Given the description of an element on the screen output the (x, y) to click on. 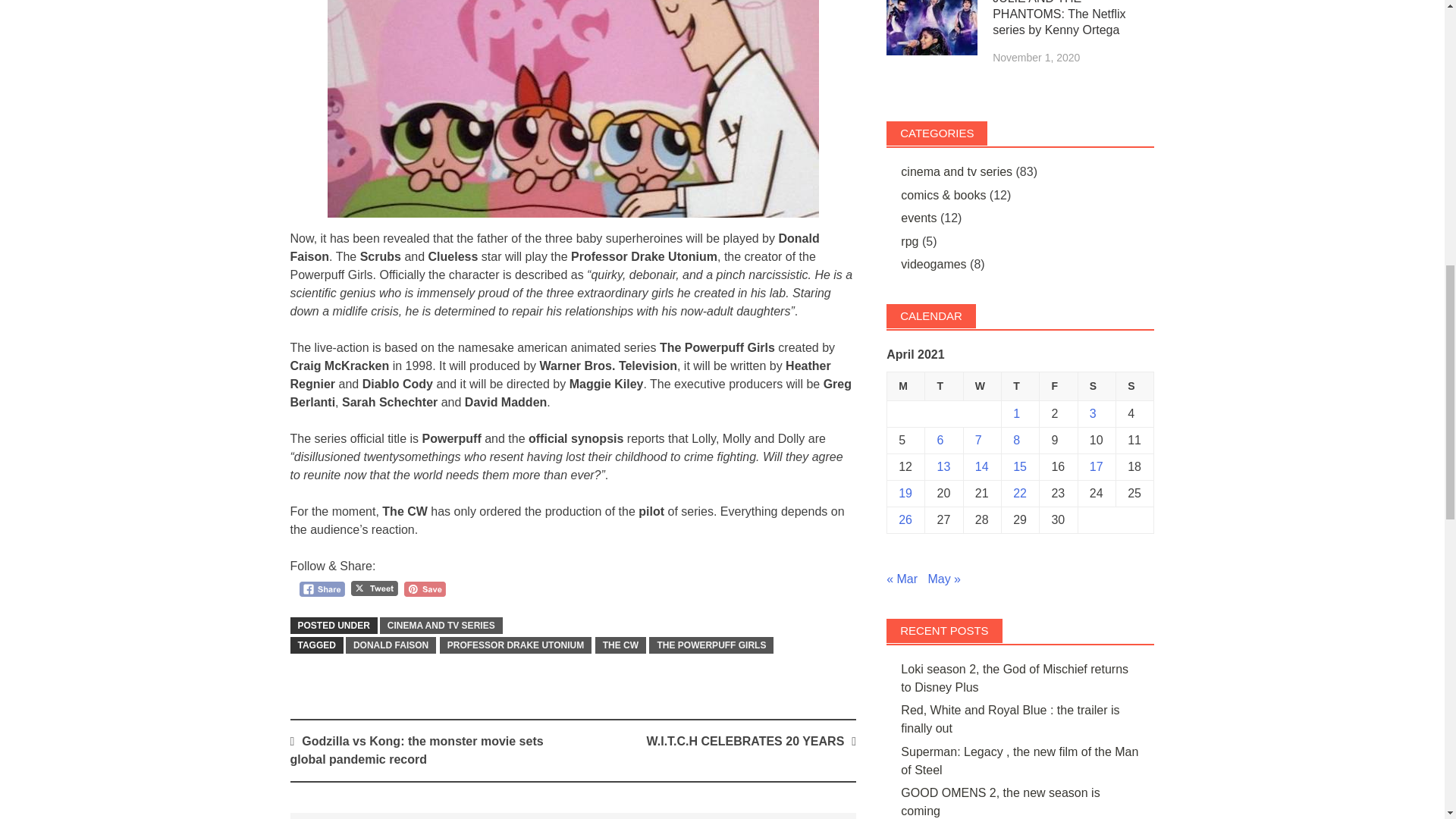
PROFESSOR DRAKE UTONIUM (515, 645)
DONALD FAISON (390, 645)
Pin Share (424, 589)
Tweet (373, 588)
THE CW (620, 645)
CINEMA AND TV SERIES (441, 625)
Facebook Share (321, 589)
